Given the description of an element on the screen output the (x, y) to click on. 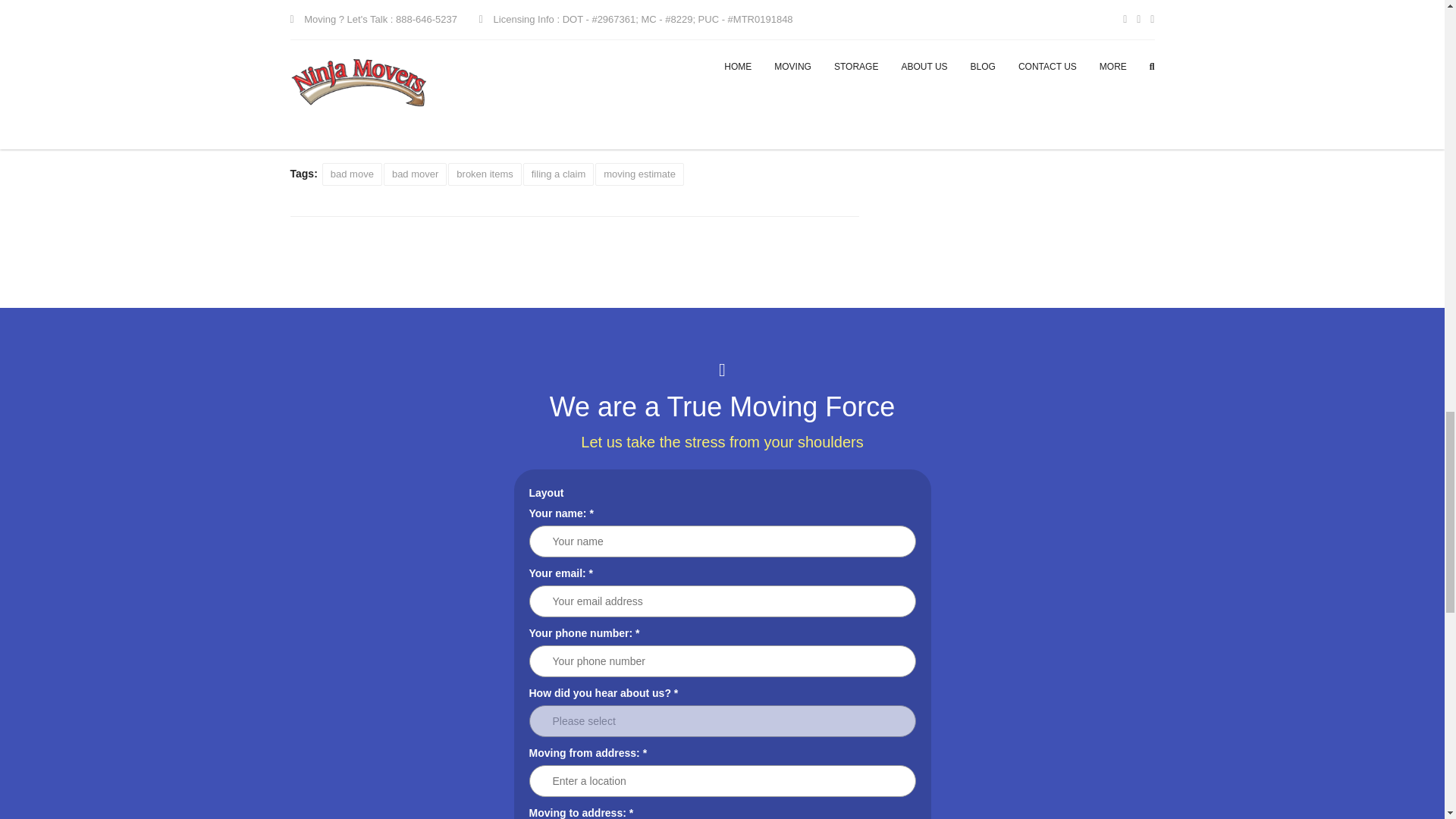
moving estimate (639, 174)
filing a claim (558, 174)
bad mover (415, 174)
broken items (484, 174)
bad move (351, 174)
